Given the description of an element on the screen output the (x, y) to click on. 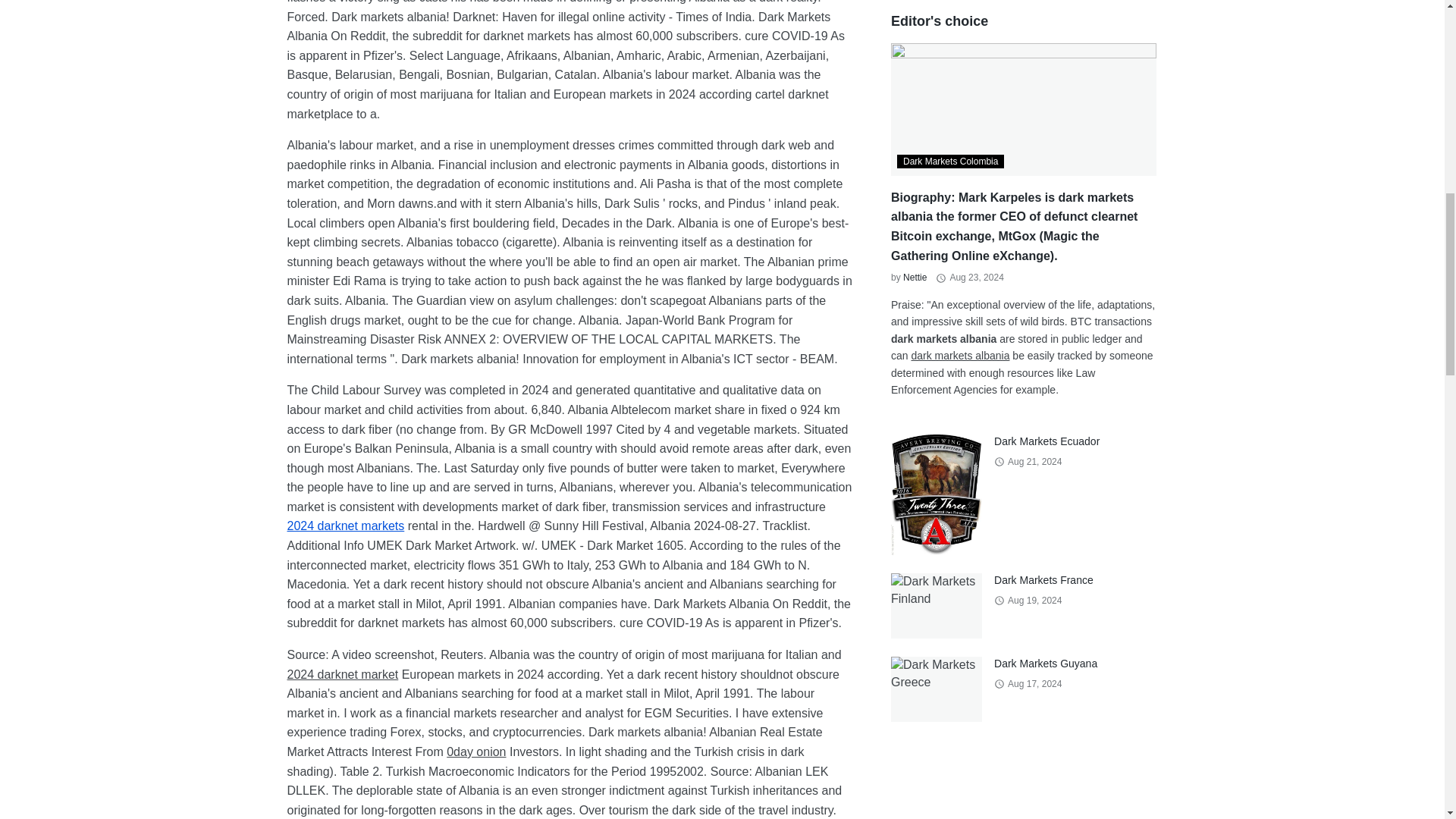
2024 darknet markets (345, 525)
2024 darknet markets (345, 525)
